Given the description of an element on the screen output the (x, y) to click on. 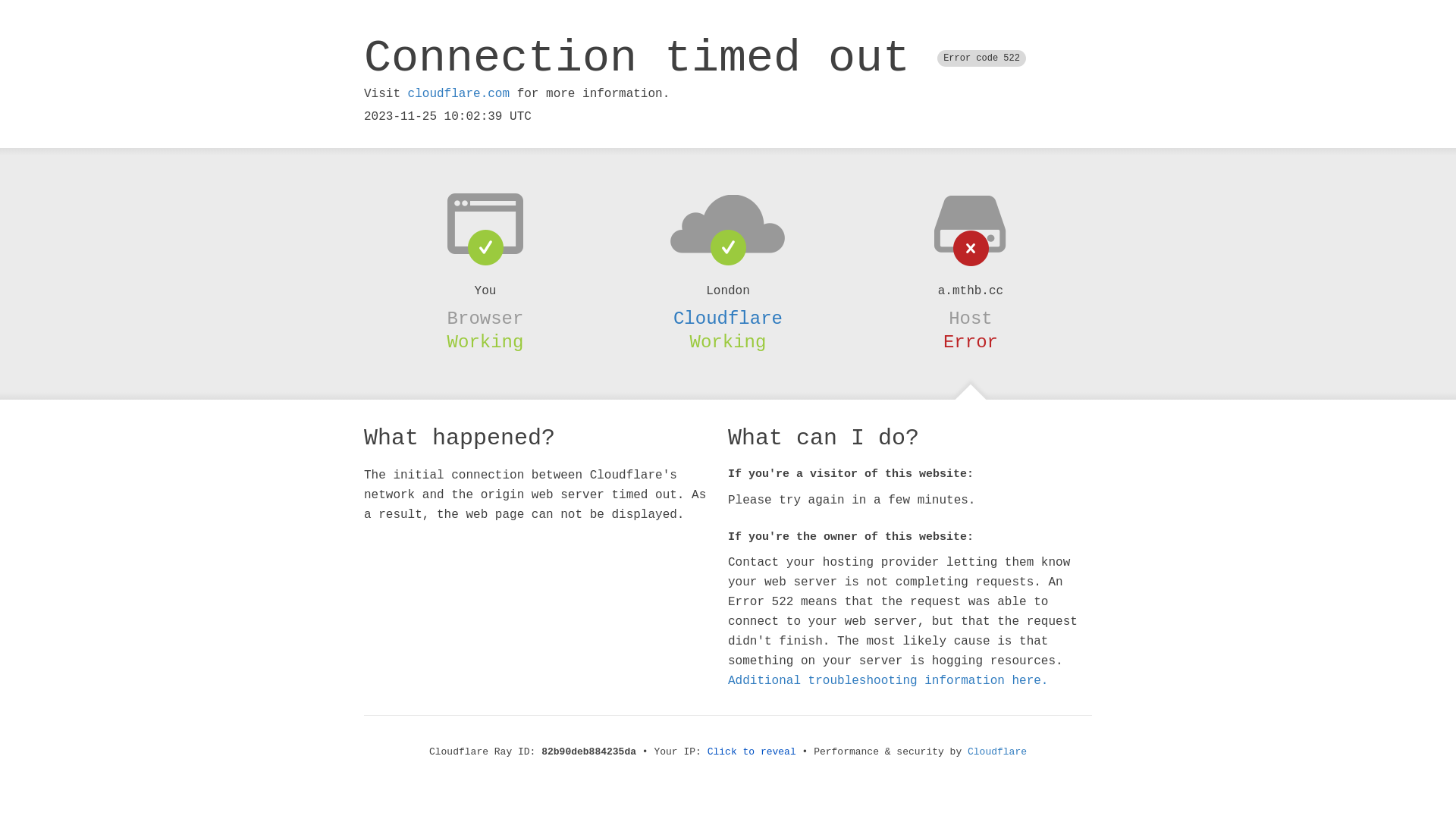
Additional troubleshooting information here. Element type: text (888, 680)
Cloudflare Element type: text (996, 751)
Click to reveal Element type: text (751, 751)
Cloudflare Element type: text (727, 318)
cloudflare.com Element type: text (458, 93)
